Given the description of an element on the screen output the (x, y) to click on. 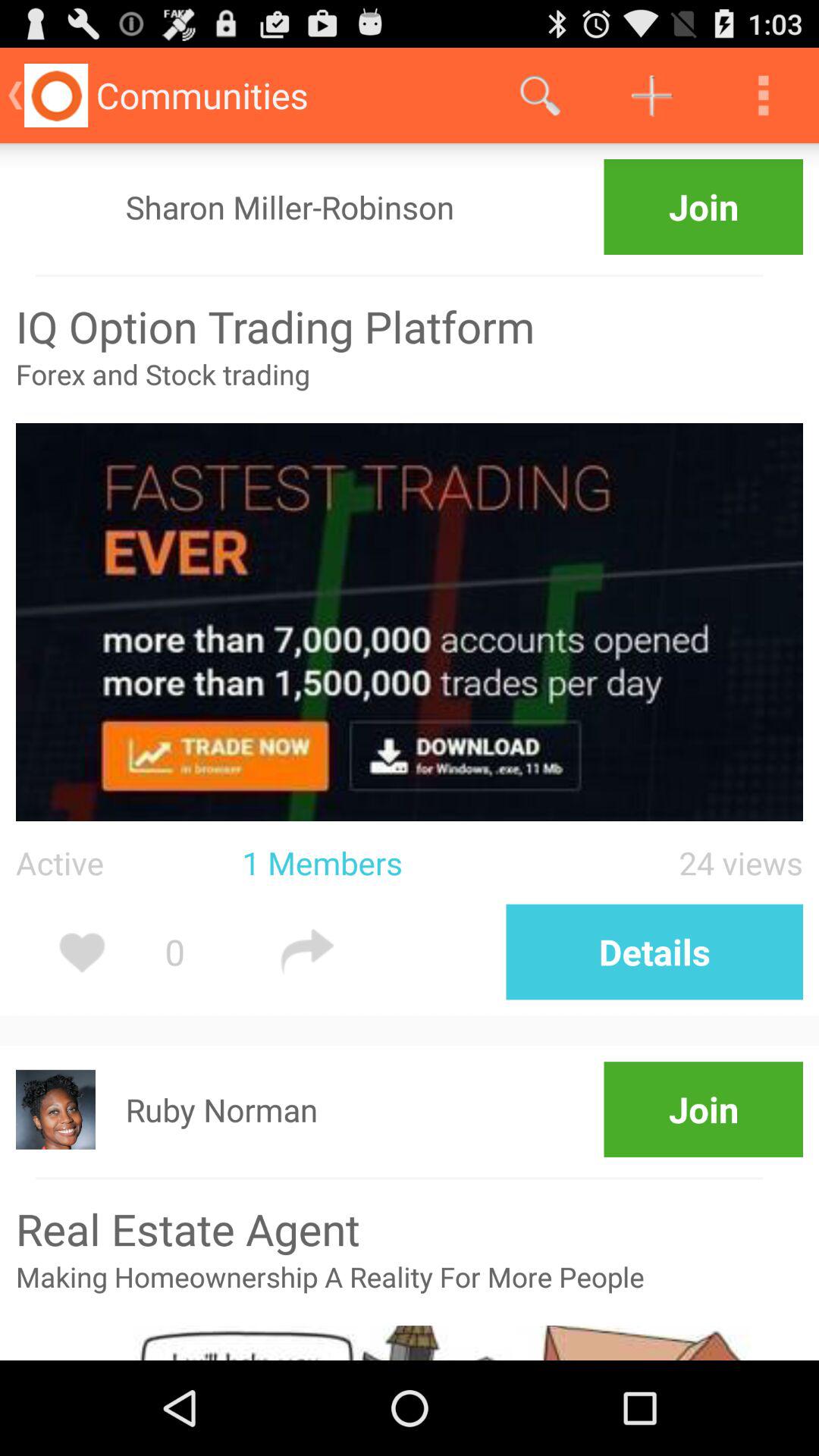
press app to the left of the 1 members icon (128, 862)
